Given the description of an element on the screen output the (x, y) to click on. 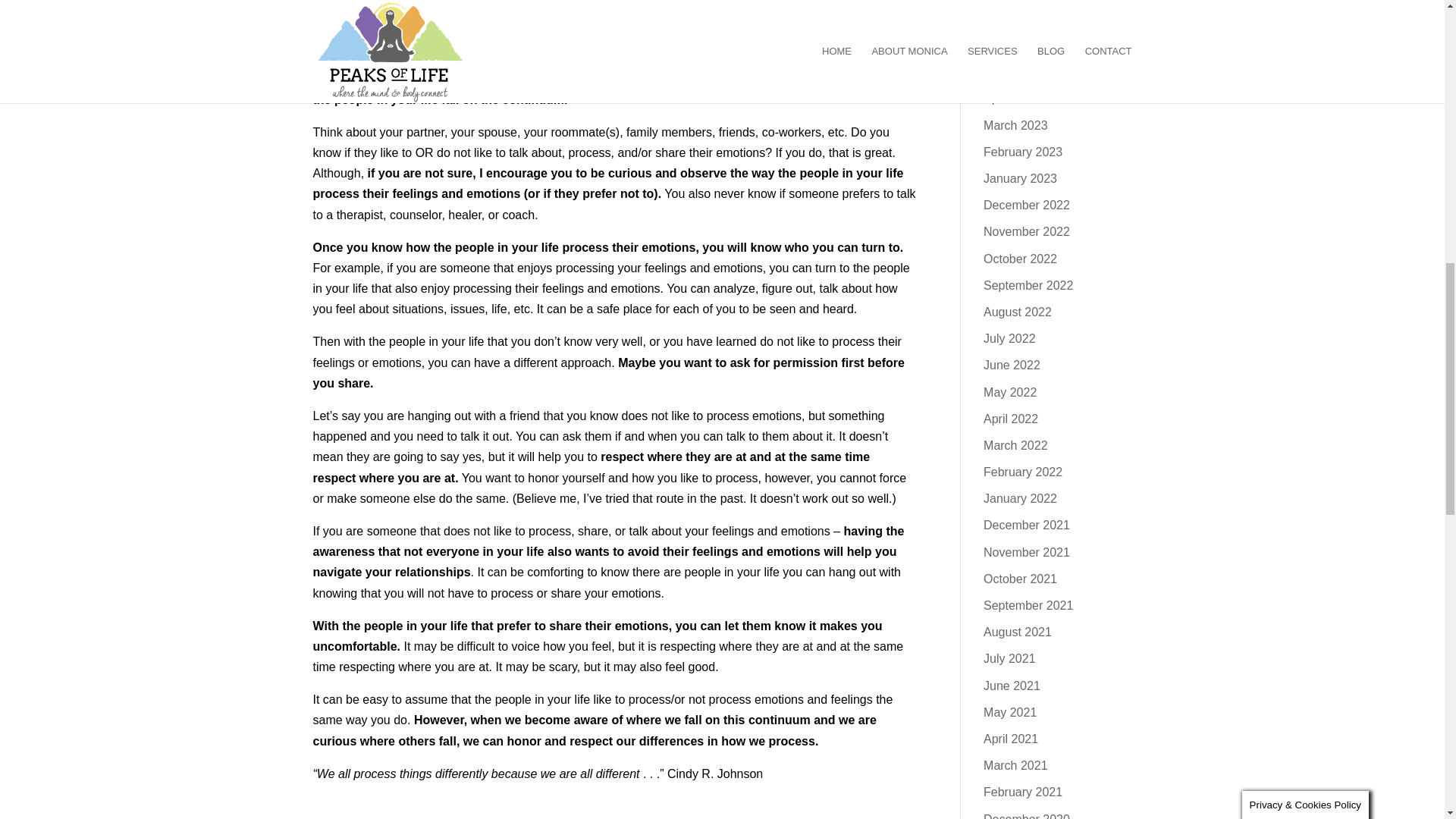
March 2023 (1016, 124)
July 2023 (1009, 18)
May 2023 (1010, 71)
April 2023 (1011, 97)
June 2023 (1012, 44)
